Given the description of an element on the screen output the (x, y) to click on. 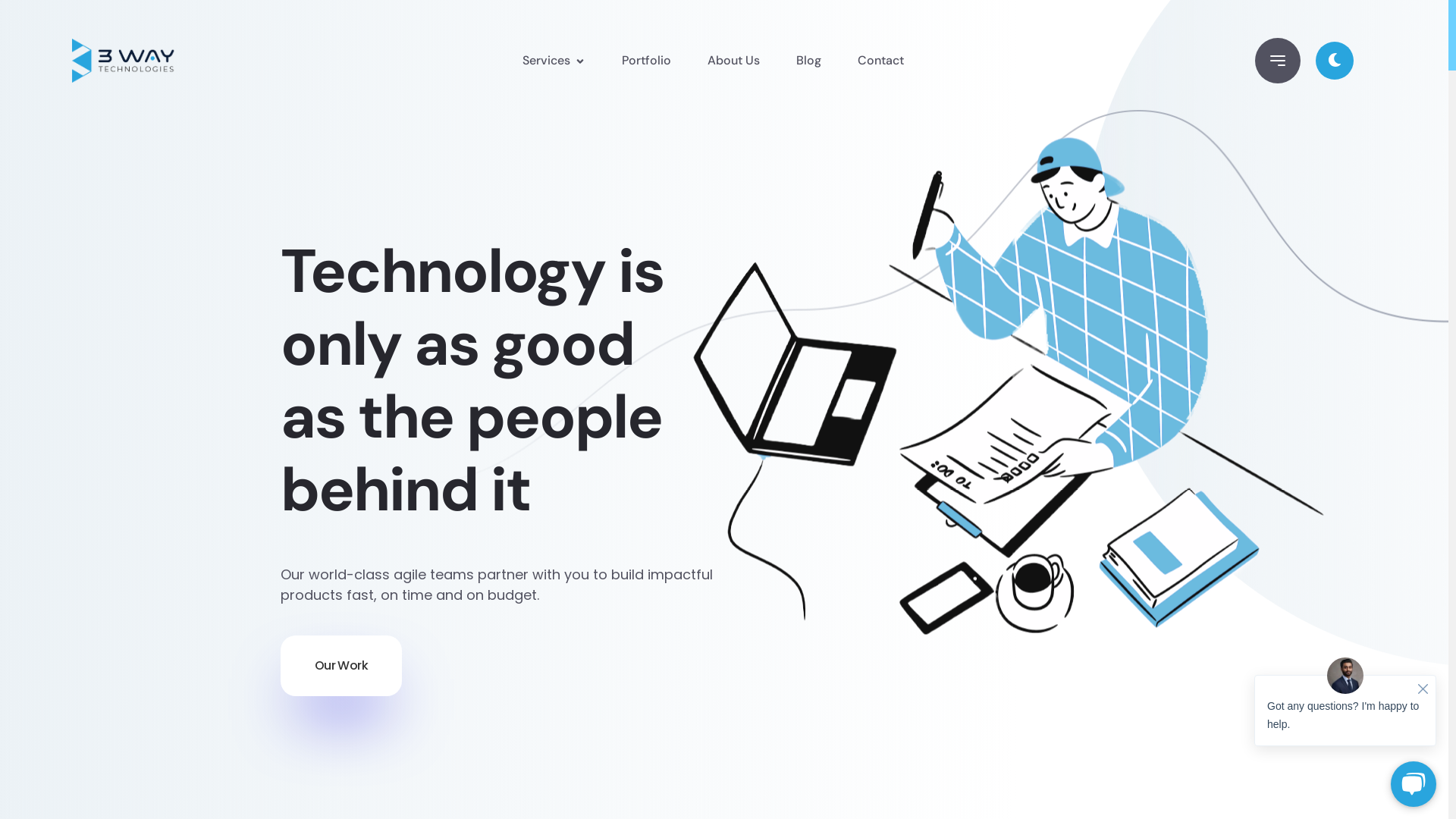
About Us Element type: text (733, 60)
Our Work Element type: text (340, 665)
Services Element type: text (553, 60)
Contact Element type: text (880, 60)
Portfolio Element type: text (646, 60)
Blog Element type: text (808, 60)
